Given the description of an element on the screen output the (x, y) to click on. 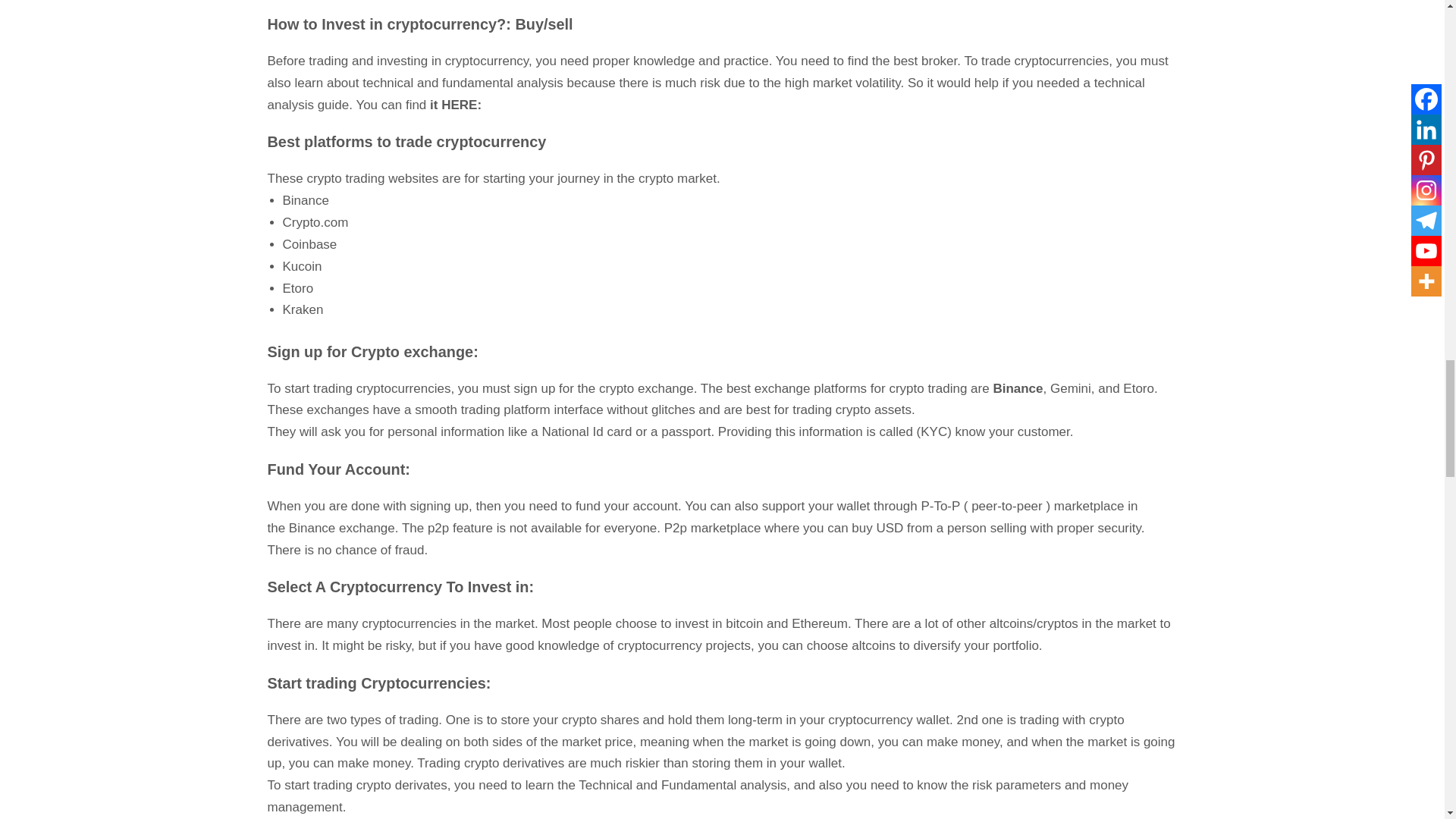
Binance (311, 527)
it HERE: (455, 104)
Kucoin (301, 266)
Binance (1017, 388)
Binance (305, 200)
Crypto.com (314, 222)
